Given the description of an element on the screen output the (x, y) to click on. 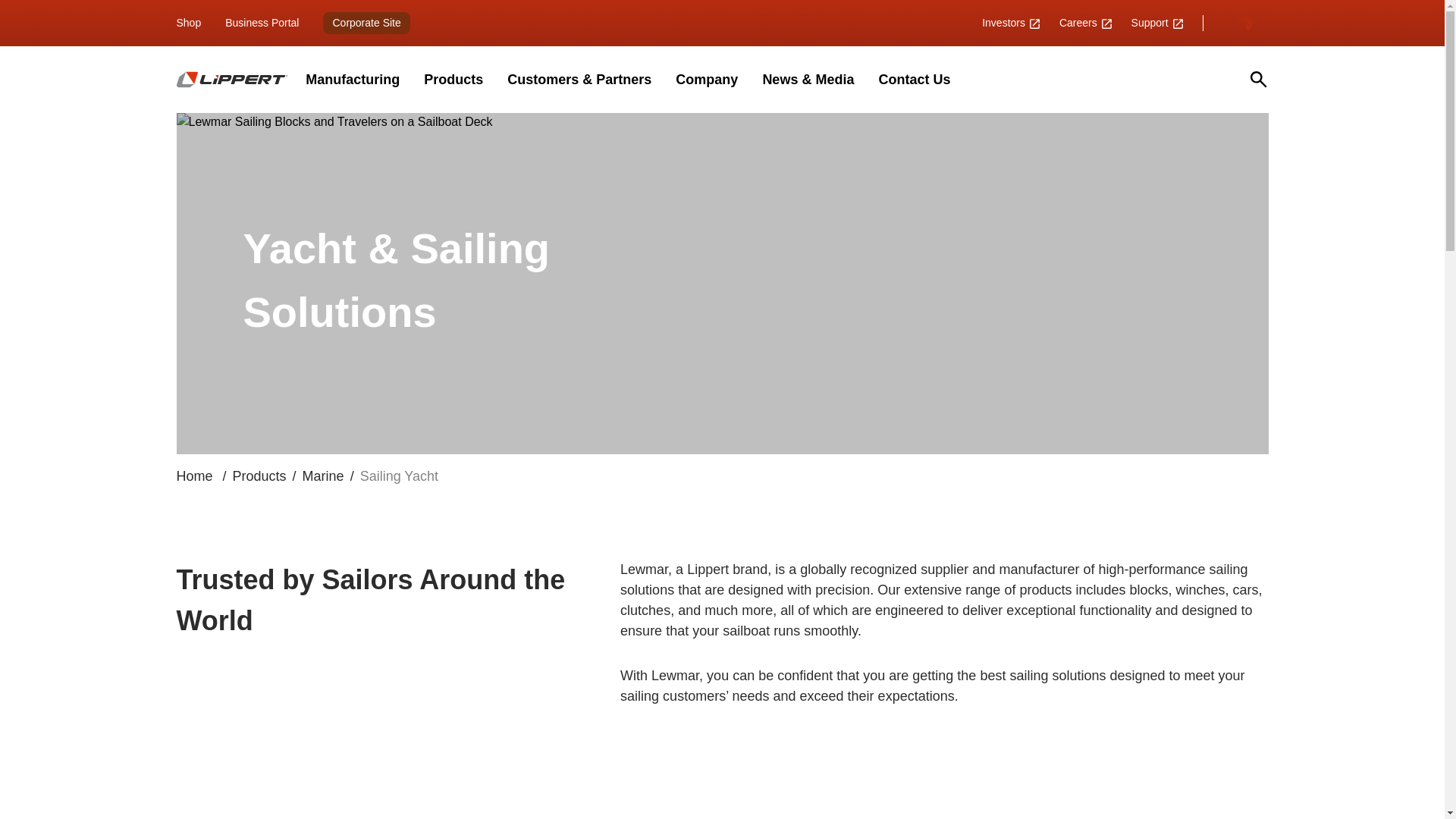
Marine (322, 476)
Corporate Site (365, 22)
Company (706, 79)
Investors (1011, 22)
Business Portal (261, 22)
Home (195, 476)
Open search overlay (1258, 79)
Manufacturing (351, 79)
Support (1158, 22)
Careers (1086, 22)
Products (259, 476)
Contact Us (913, 79)
Products (453, 79)
Shop (188, 22)
